Given the description of an element on the screen output the (x, y) to click on. 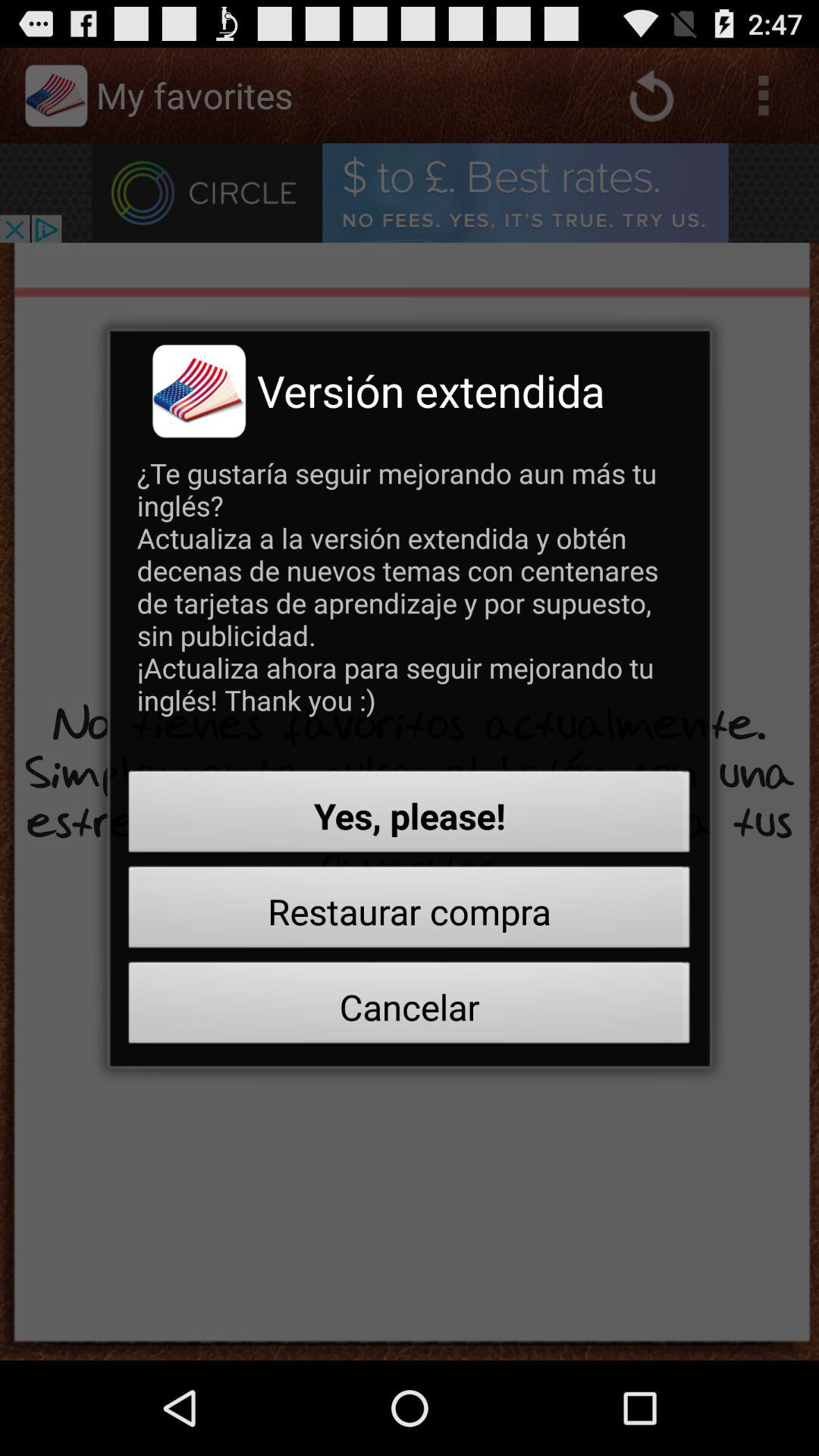
scroll to the yes, please! (409, 815)
